Given the description of an element on the screen output the (x, y) to click on. 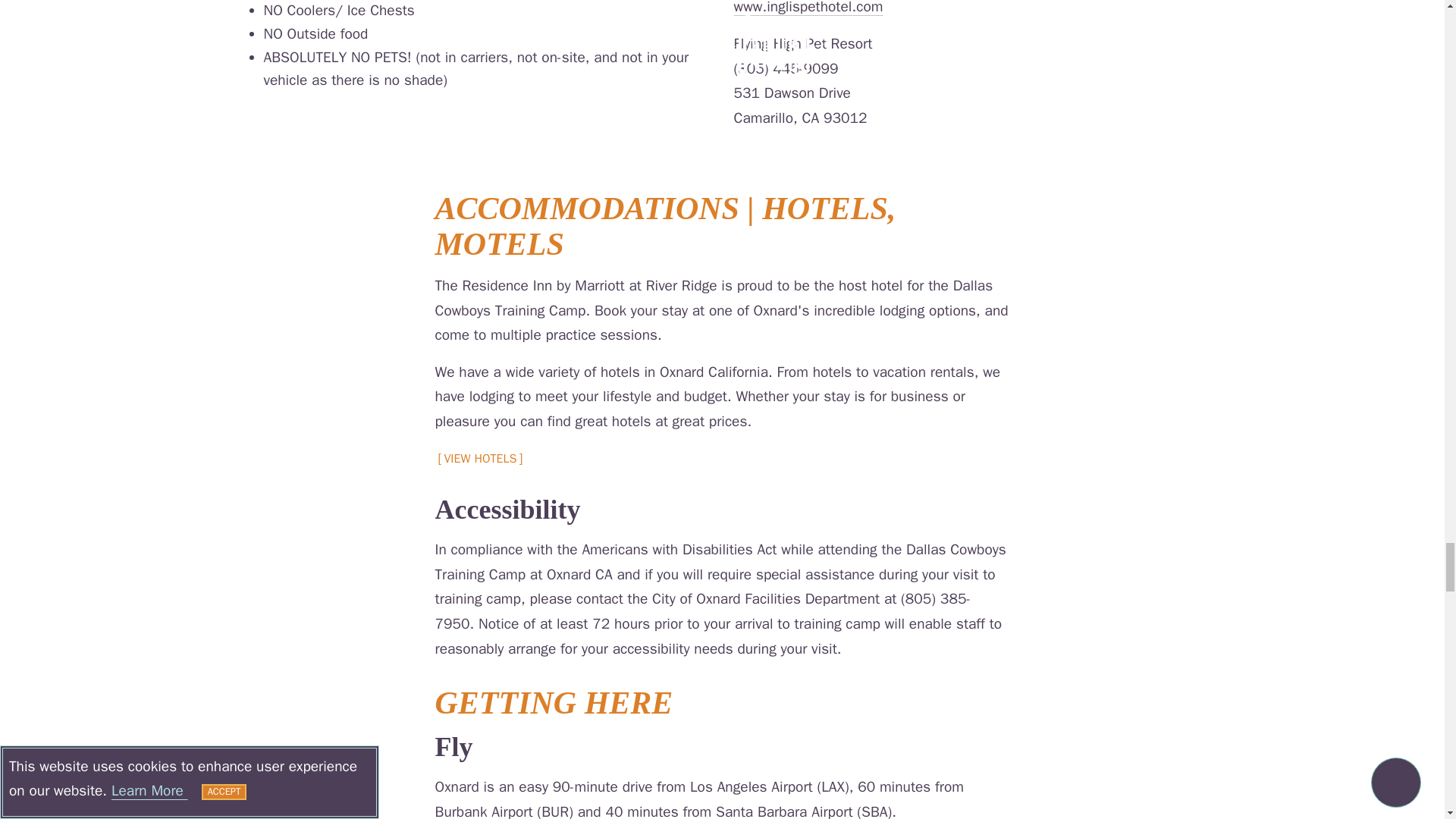
VIEW HOTELS (480, 459)
www.inglispethotel.com (808, 7)
